Given the description of an element on the screen output the (x, y) to click on. 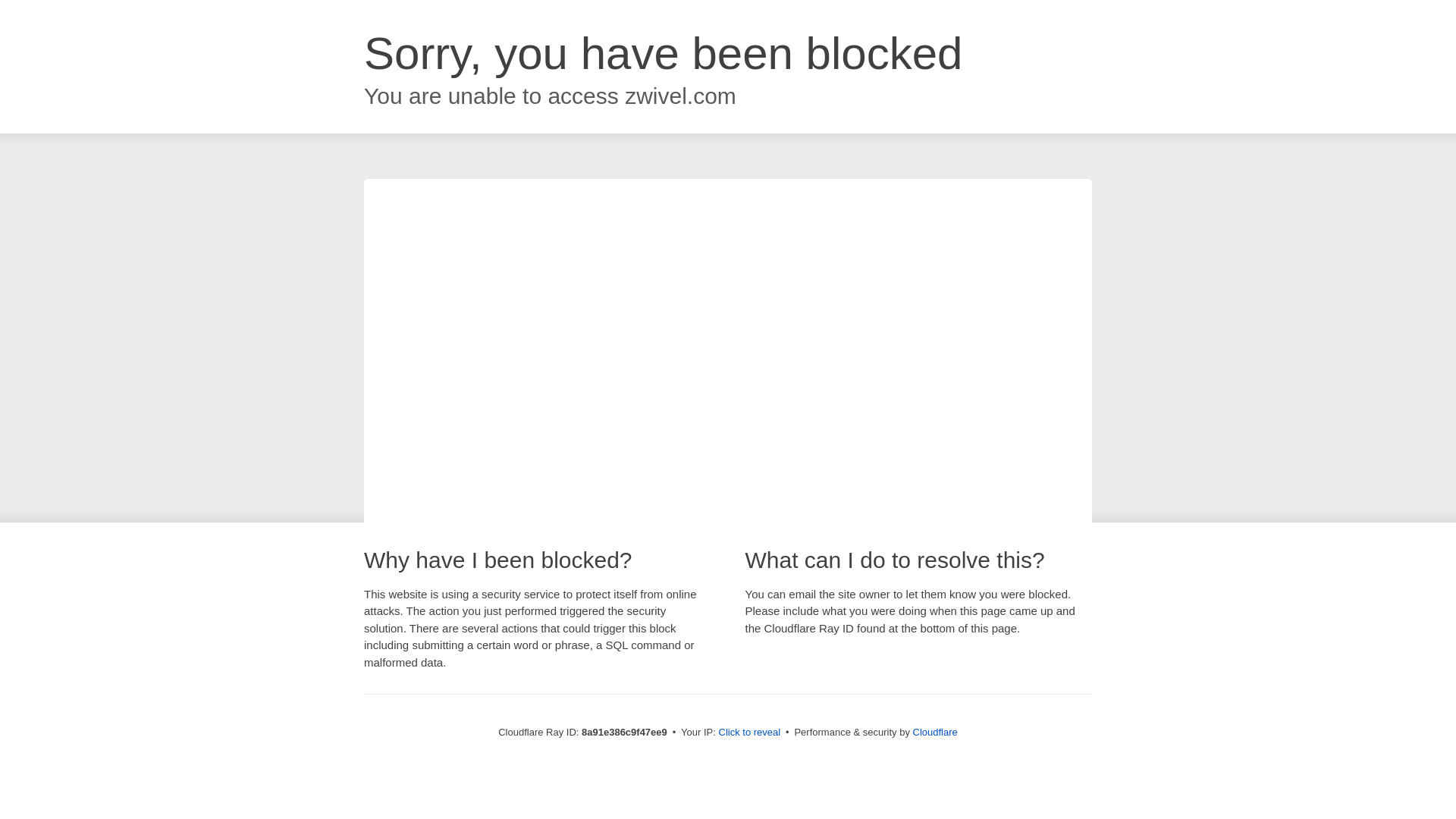
Cloudflare (935, 731)
Click to reveal (749, 732)
